Given the description of an element on the screen output the (x, y) to click on. 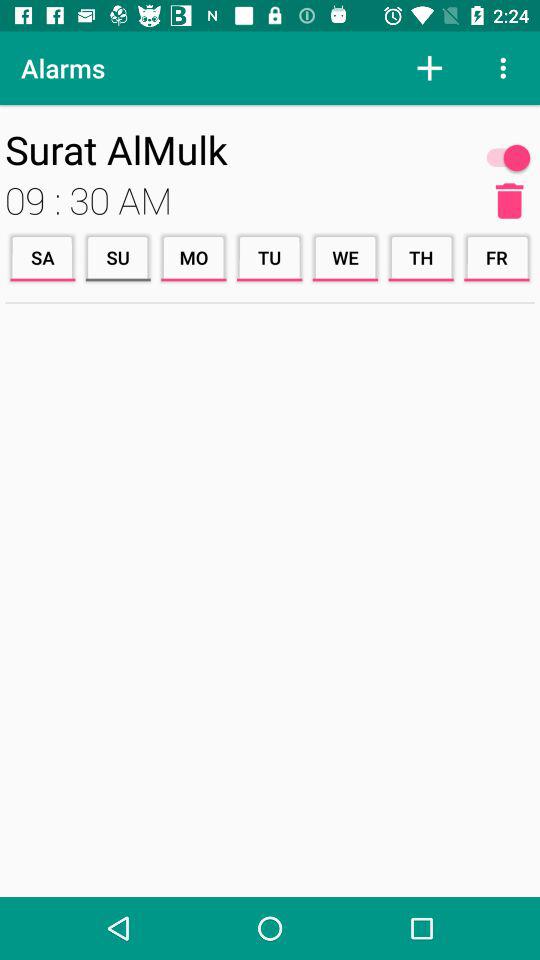
flip until the 09 : 30 am item (244, 199)
